Given the description of an element on the screen output the (x, y) to click on. 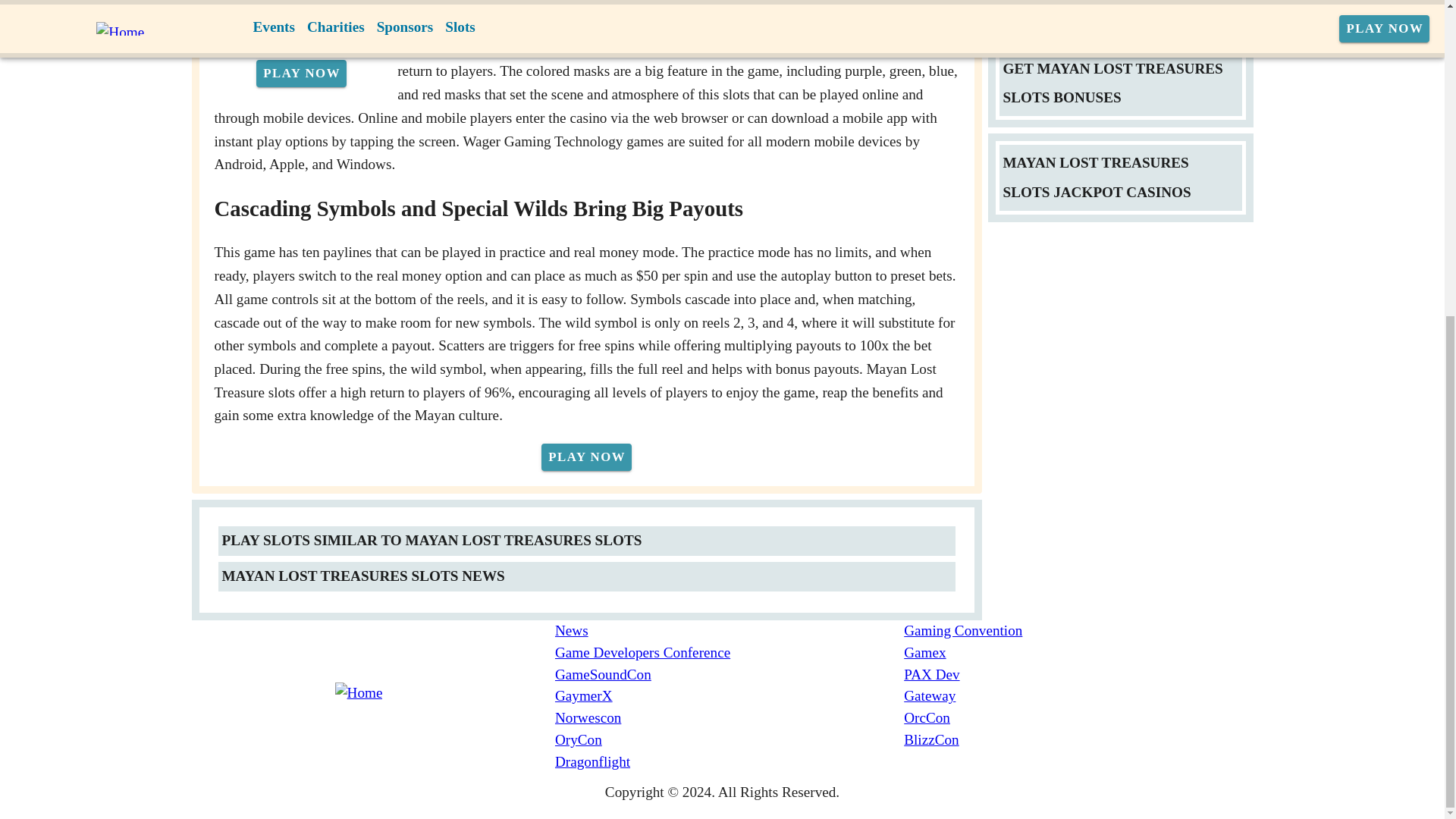
OryCon (729, 740)
BlizzCon (1078, 740)
Game Developers Conference (729, 653)
Norwescon (729, 718)
PLAY NOW (586, 456)
Gateway (1078, 696)
GaymerX (729, 696)
News (729, 630)
Gamex (1078, 653)
OrcCon (1078, 718)
Dragonflight (729, 762)
PAX Dev (1078, 674)
GameSoundCon (729, 674)
PLAY NOW (301, 72)
Gaming Convention (1078, 630)
